Given the description of an element on the screen output the (x, y) to click on. 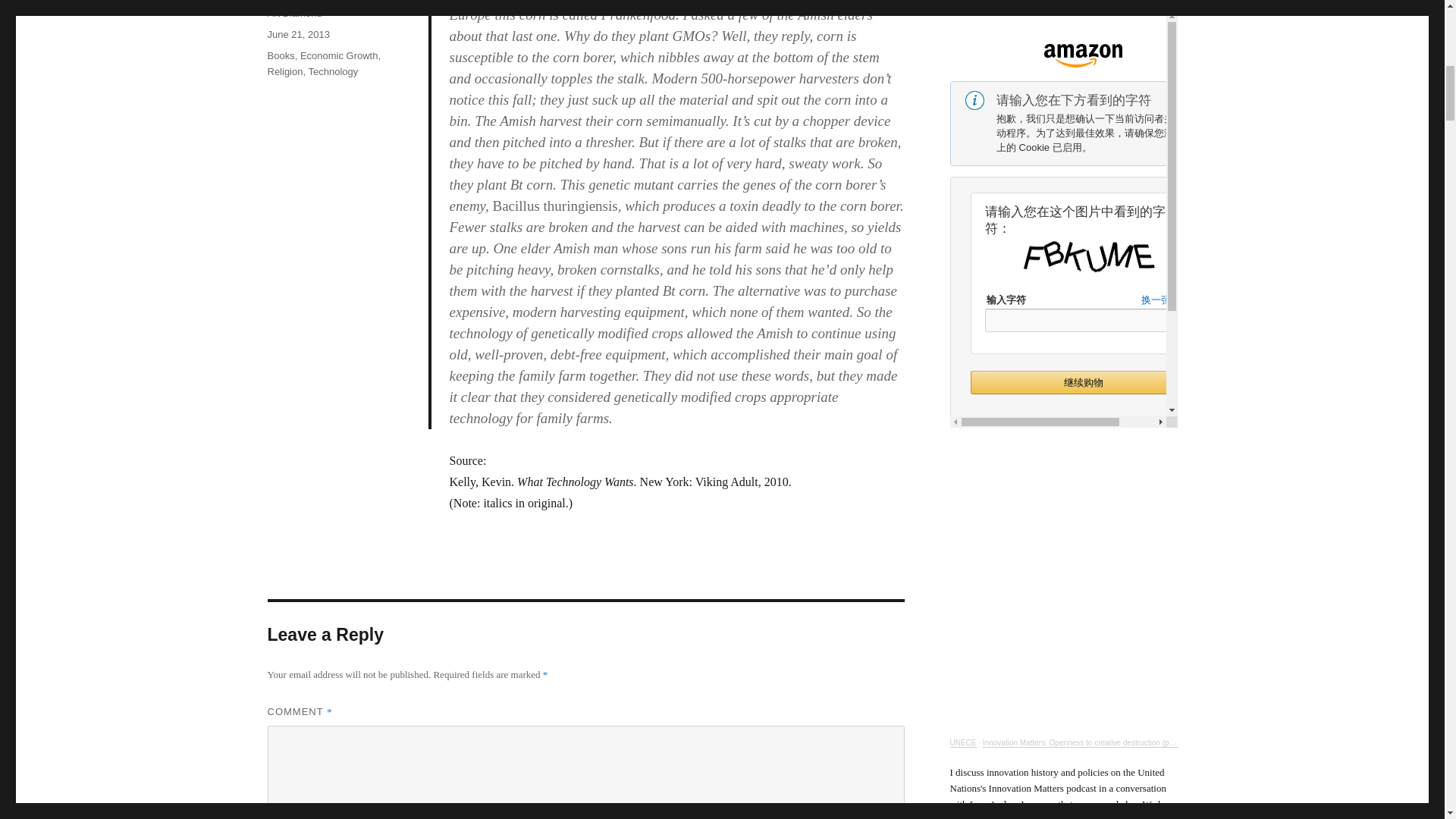
Books (280, 55)
Technology (332, 71)
Art Diamond (293, 12)
Economic Growth (338, 55)
Religion (284, 71)
June 21, 2013 (297, 34)
UNECE (962, 742)
UNECE (962, 742)
